Given the description of an element on the screen output the (x, y) to click on. 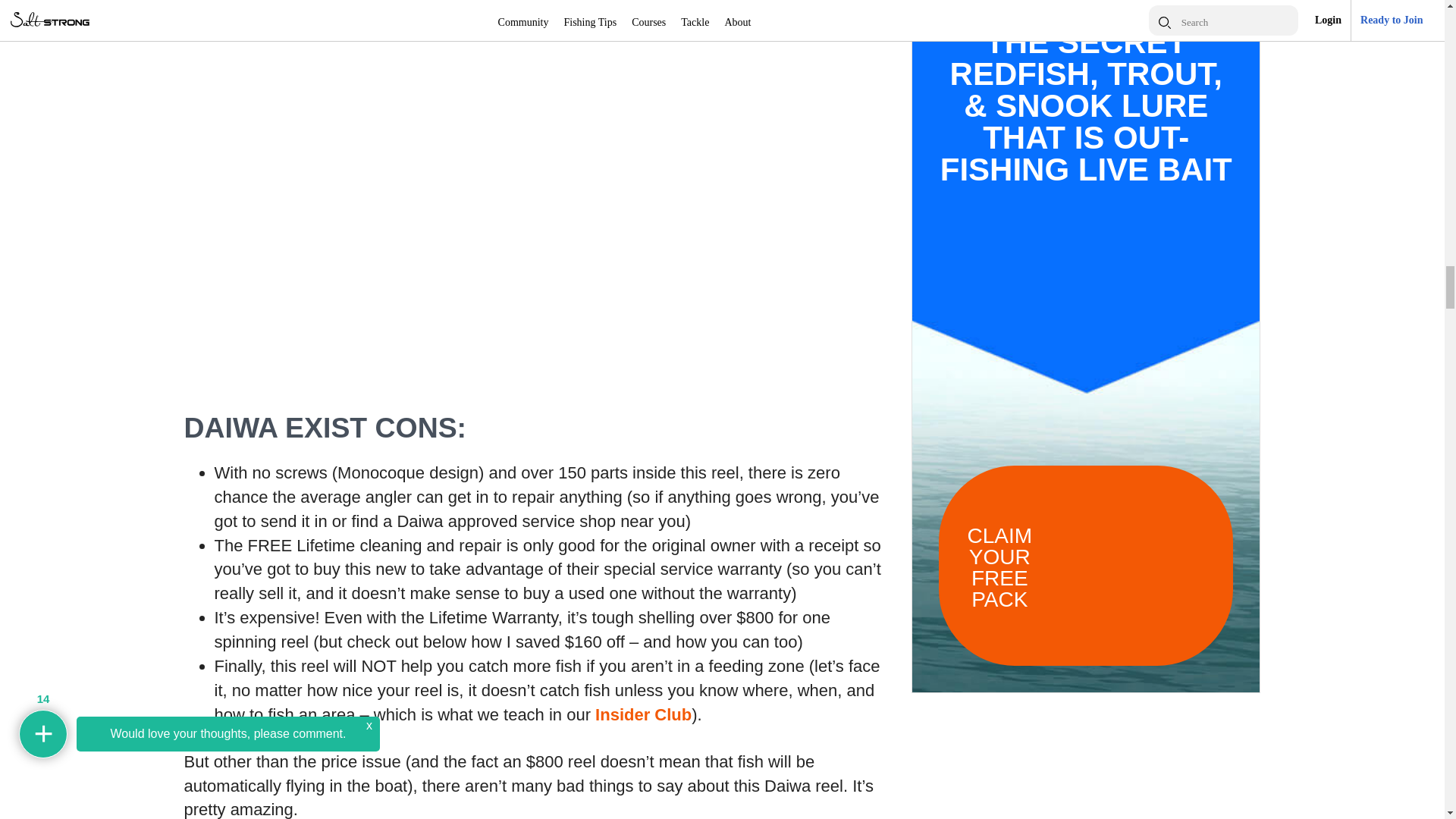
Insider Club (643, 714)
